Given the description of an element on the screen output the (x, y) to click on. 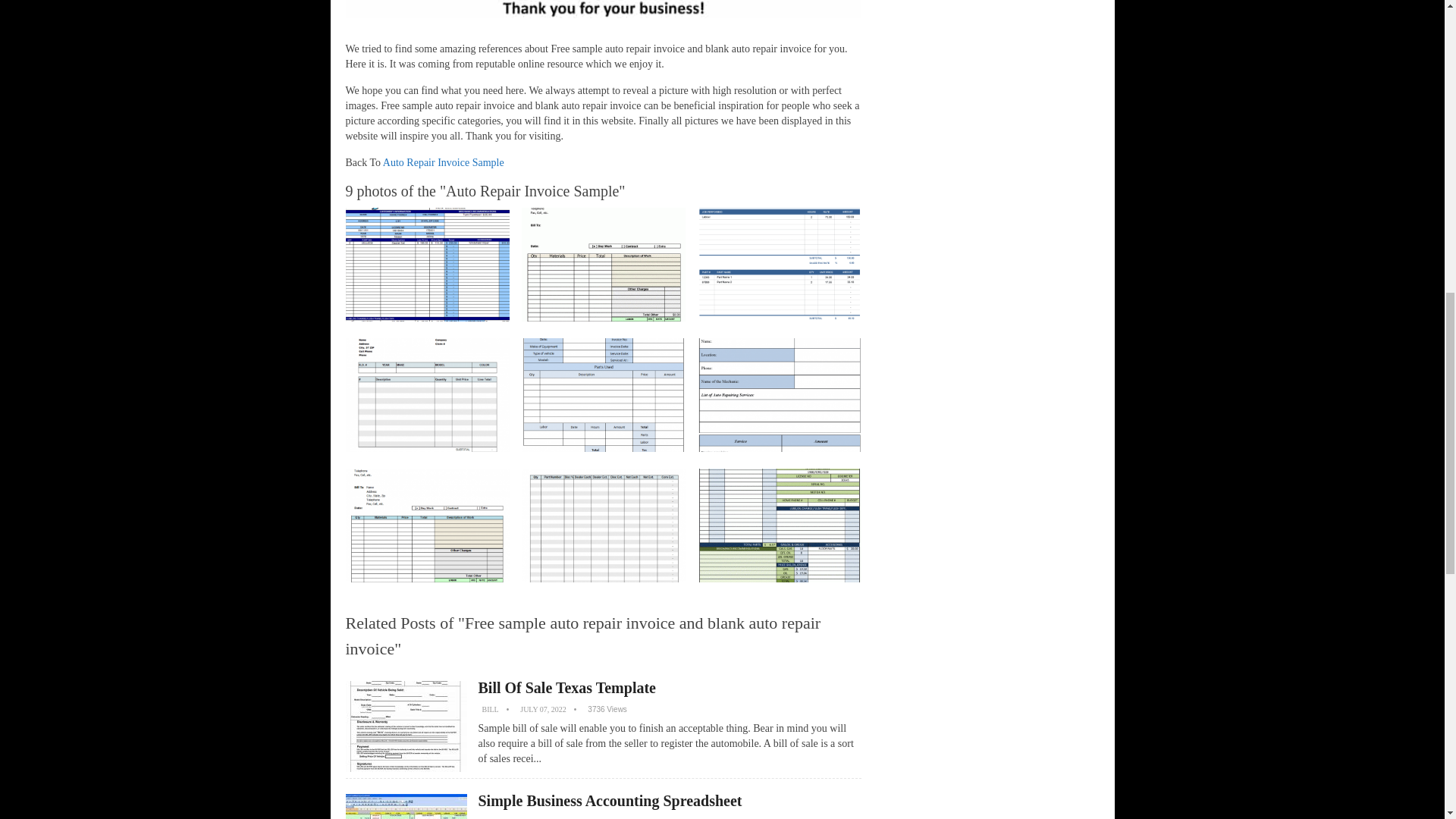
SPREADSHEET (507, 818)
Bill Of Sale Texas Template (566, 687)
free excel accounting templates download 1 (406, 806)
Vehicle repair invoice sample and fake auto repair receipt (779, 525)
Auto Repair Invoice Sample (442, 162)
Car repair invoice sample and fillable auto repair invoice (779, 395)
Simple Business Accounting Spreadsheet (609, 800)
